Given the description of an element on the screen output the (x, y) to click on. 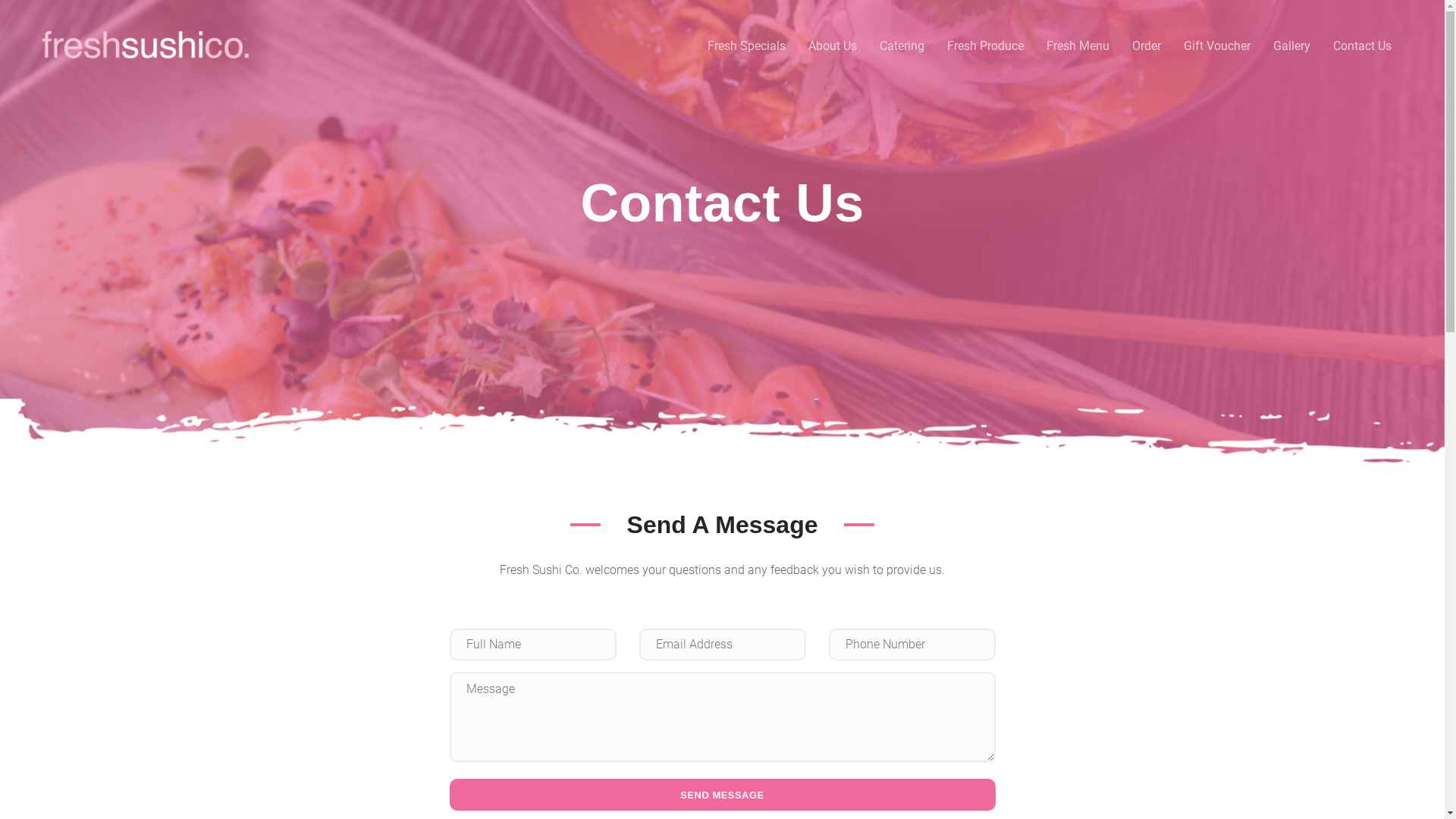
Send Message Element type: text (721, 794)
Order Element type: text (1146, 46)
Gallery Element type: text (1291, 46)
About Us Element type: text (832, 46)
Fresh Menu Element type: text (1077, 46)
Contact Us Element type: text (1361, 46)
Gift Voucher Element type: text (1216, 46)
Catering Element type: text (901, 46)
Fresh Produce Element type: text (985, 46)
Fresh Specials Element type: text (746, 46)
